Given the description of an element on the screen output the (x, y) to click on. 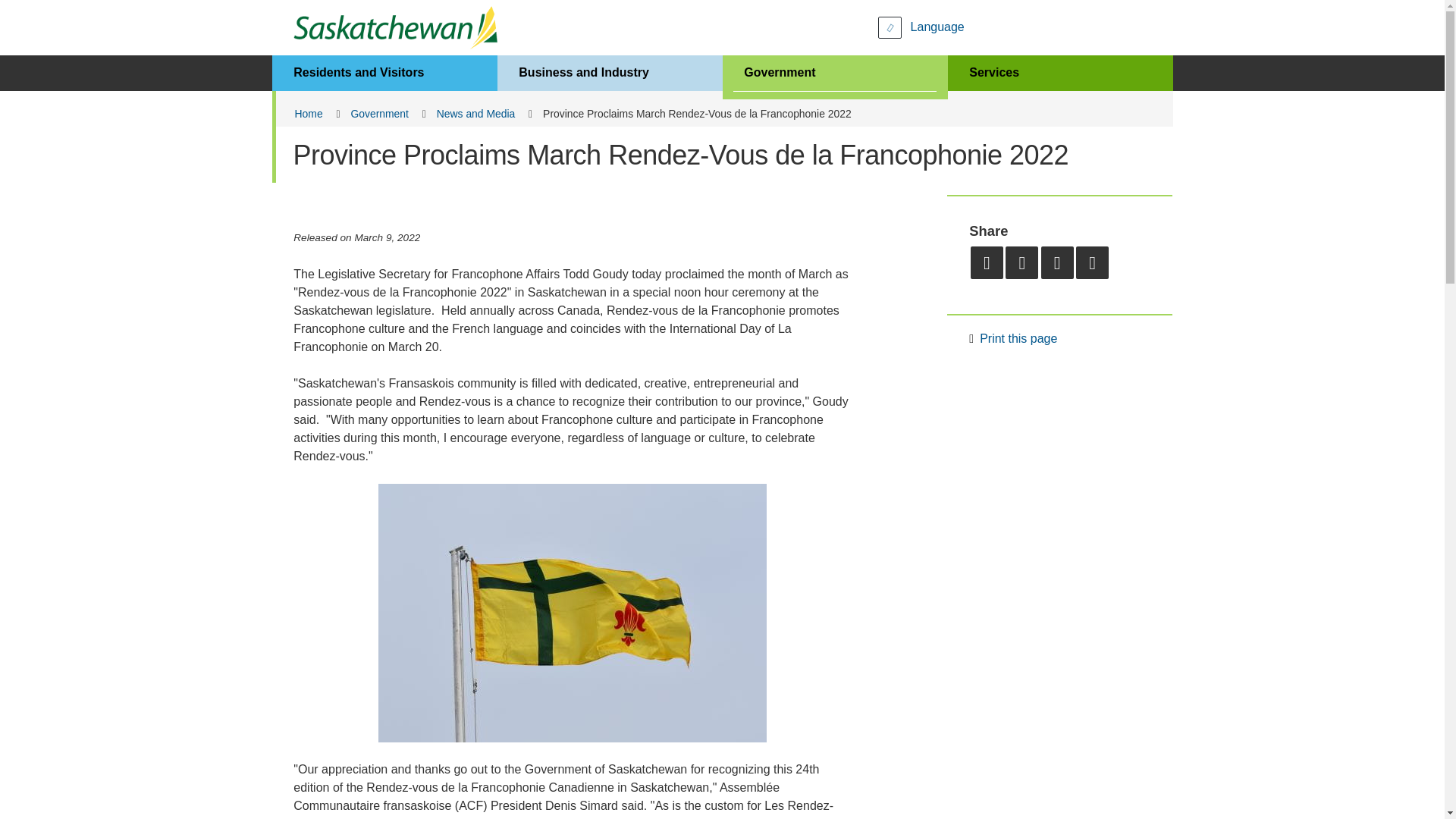
Services (1060, 72)
Language (921, 27)
Language (921, 27)
Linkedin (1091, 262)
X, formerly Twitter (1057, 262)
Residents and Visitors (383, 72)
Government (834, 72)
Facebook (1022, 262)
Business and Industry (609, 72)
Email (987, 262)
